Given the description of an element on the screen output the (x, y) to click on. 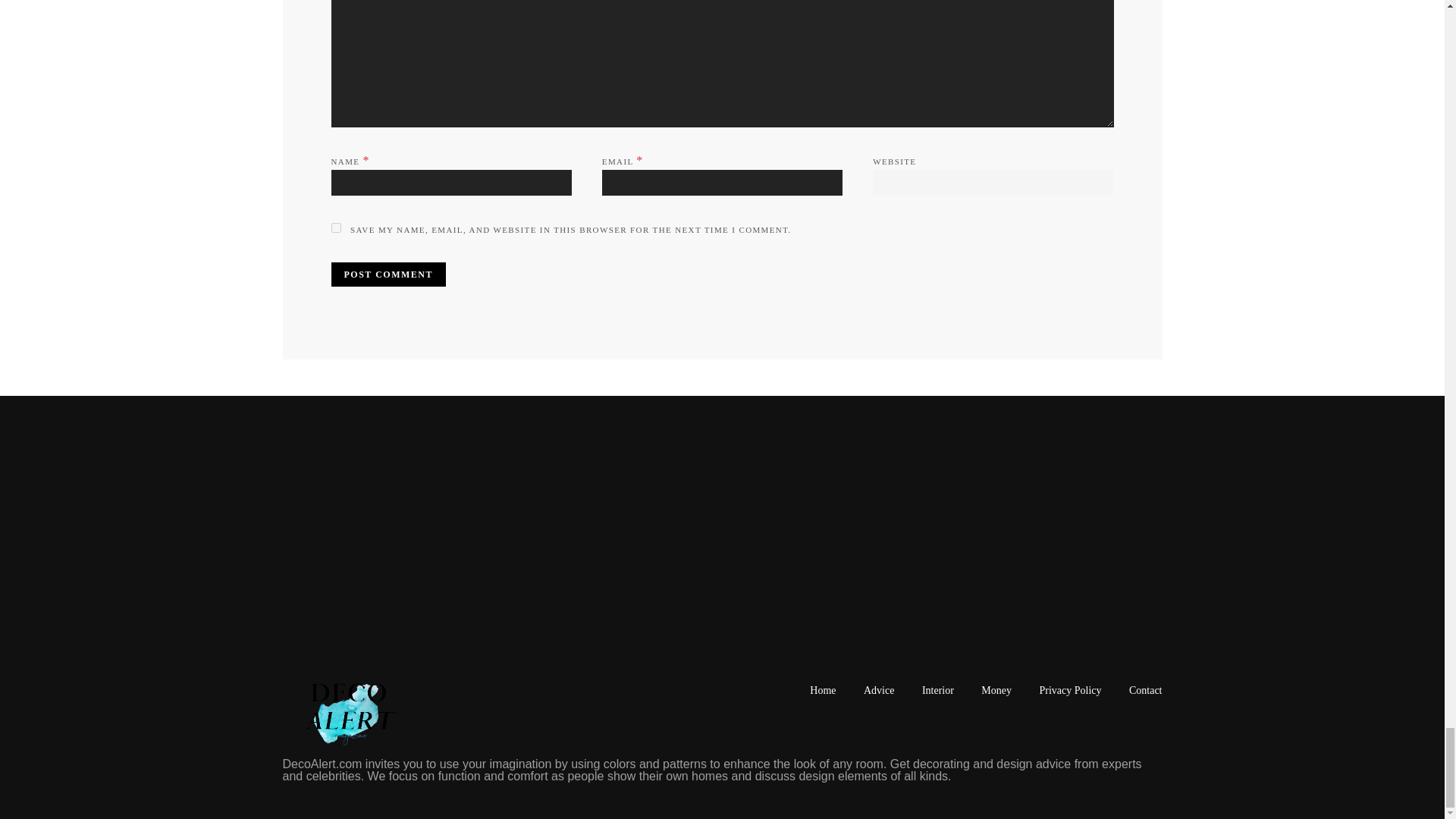
Post Comment (387, 274)
yes (335, 227)
